Given the description of an element on the screen output the (x, y) to click on. 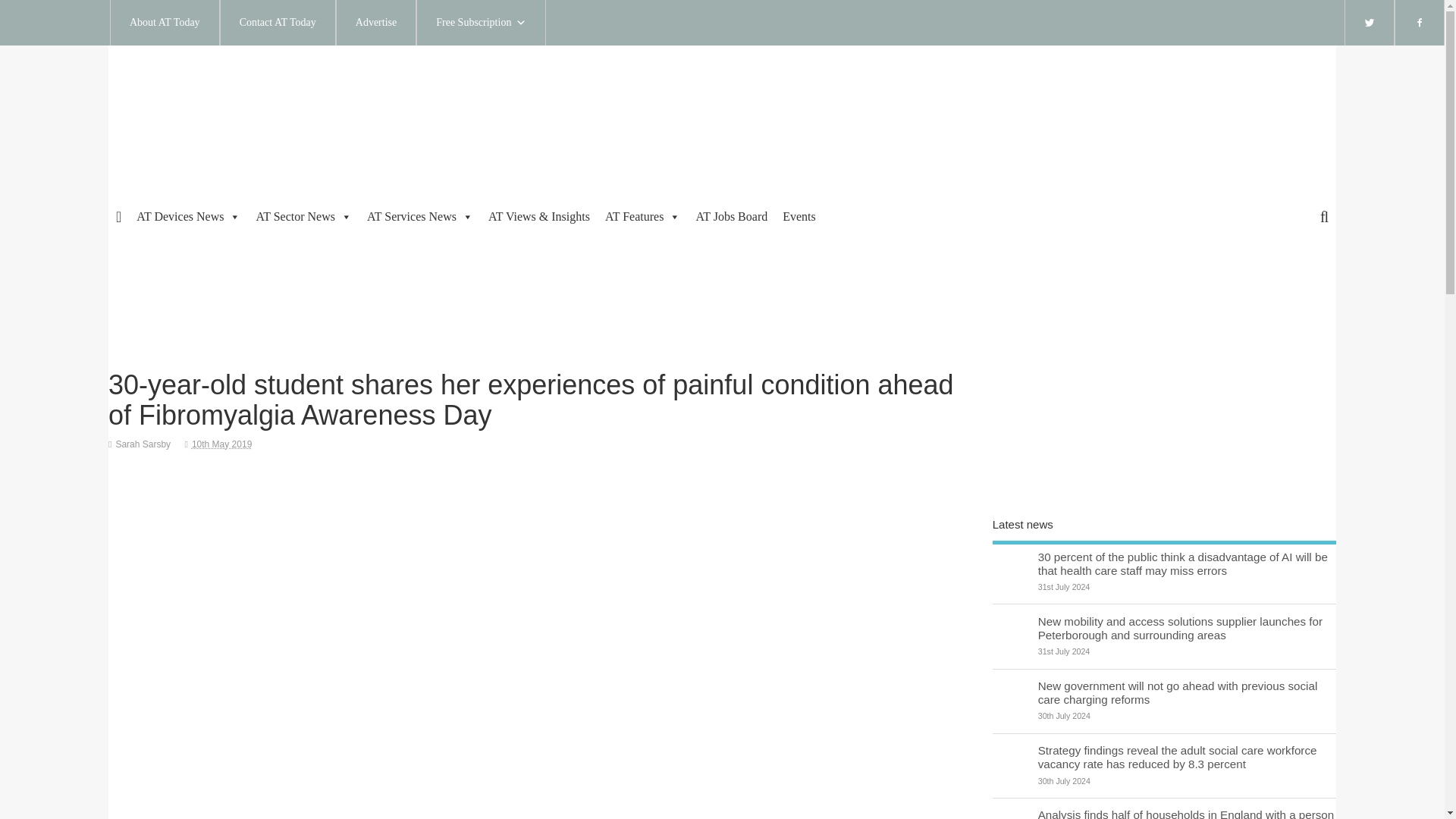
Advertise (376, 22)
Free Subscription (481, 22)
Contact AT Today (277, 22)
About AT Today (164, 22)
AT Devices News (188, 216)
